Given the description of an element on the screen output the (x, y) to click on. 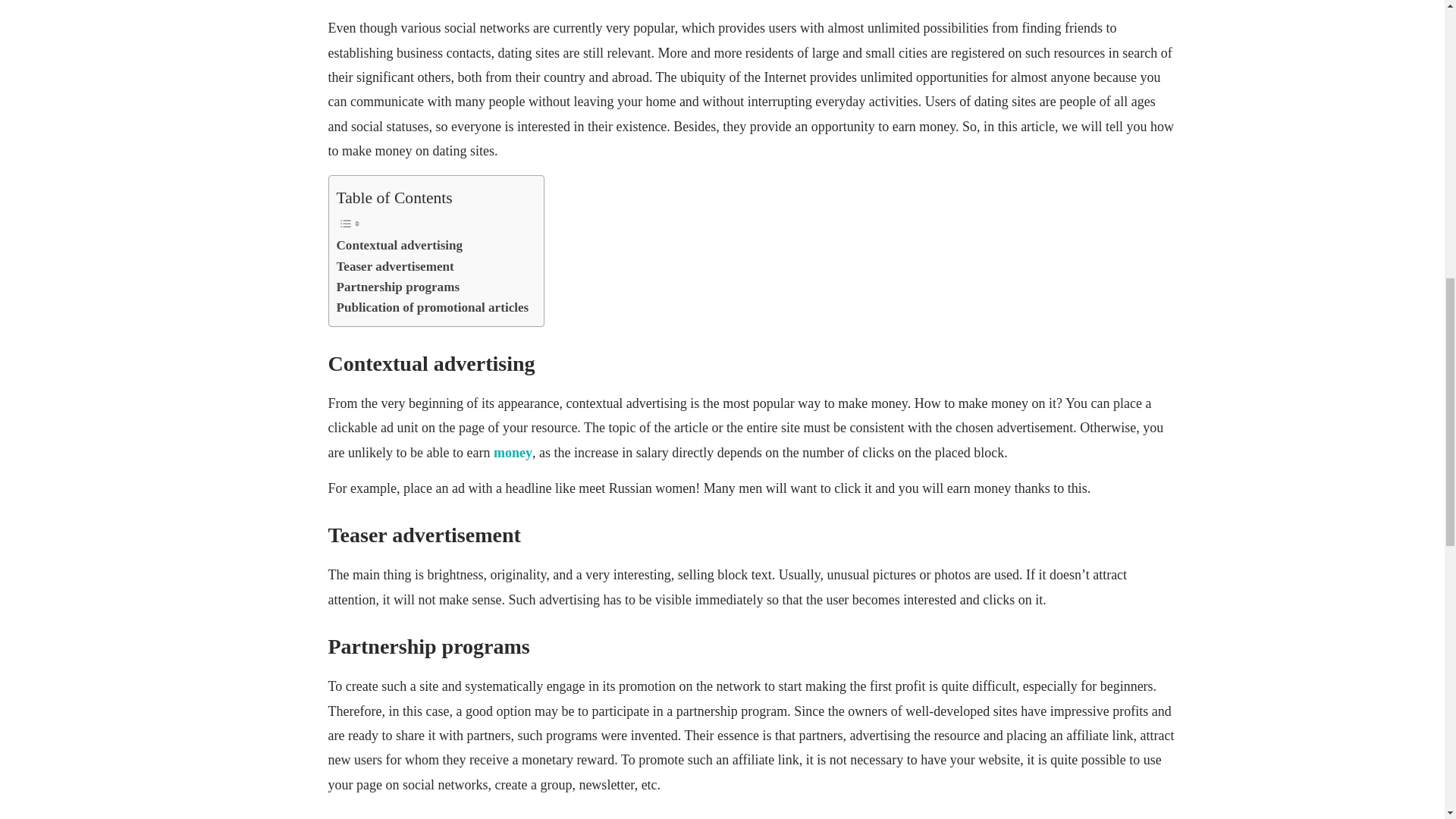
Contextual advertising (399, 245)
money (512, 452)
Teaser advertisement (395, 266)
Publication of promotional articles (432, 307)
Partnership programs (398, 286)
Publication of promotional articles (432, 307)
Partnership programs (398, 286)
Teaser advertisement (395, 266)
Contextual advertising (399, 245)
